Given the description of an element on the screen output the (x, y) to click on. 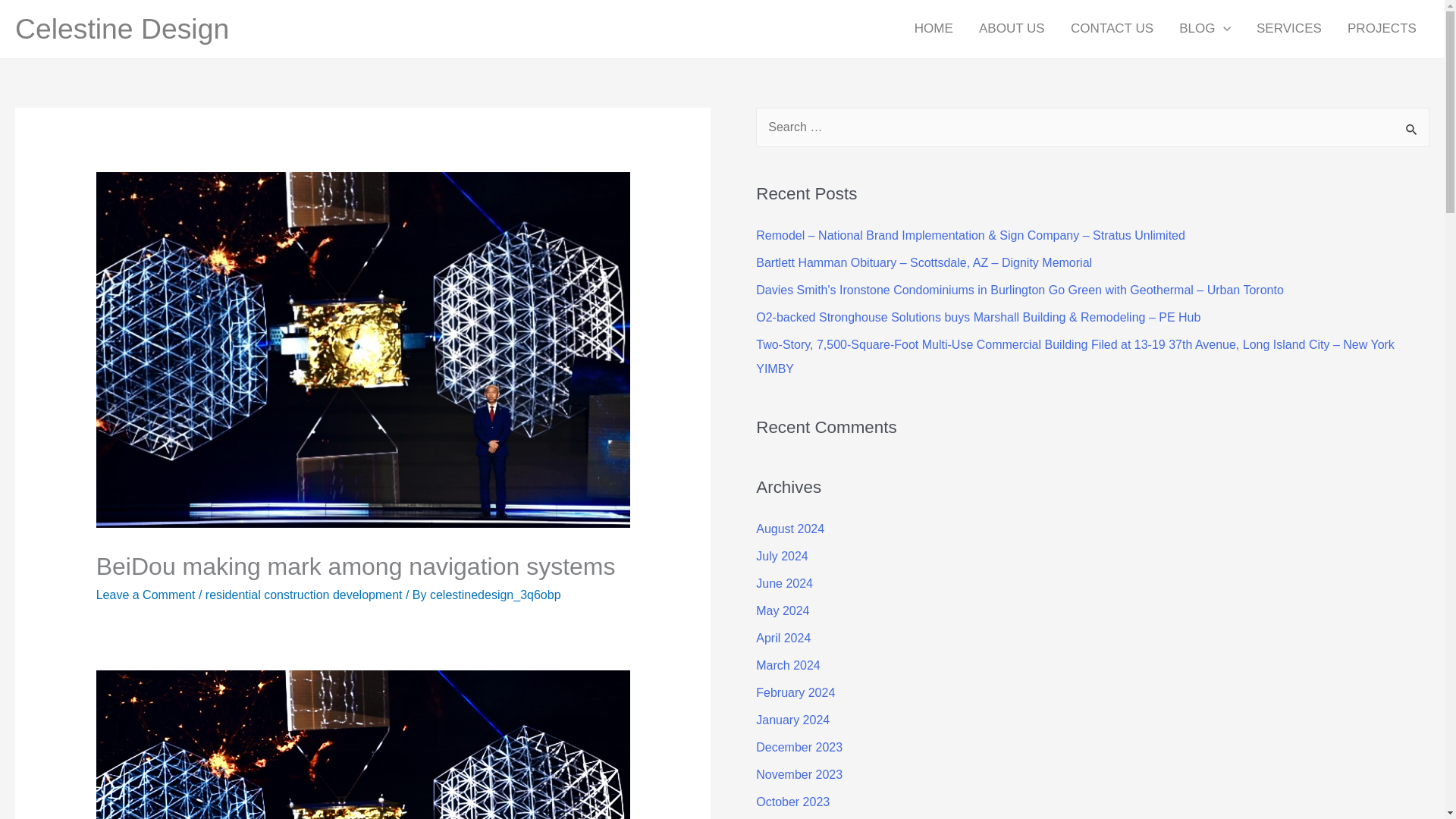
CONTACT US (1112, 28)
Celestine Design (121, 29)
ABOUT US (1012, 28)
HOME (933, 28)
SERVICES (1289, 28)
BLOG (1204, 28)
PROJECTS (1382, 28)
Leave a Comment (145, 594)
residential construction development (304, 594)
